Given the description of an element on the screen output the (x, y) to click on. 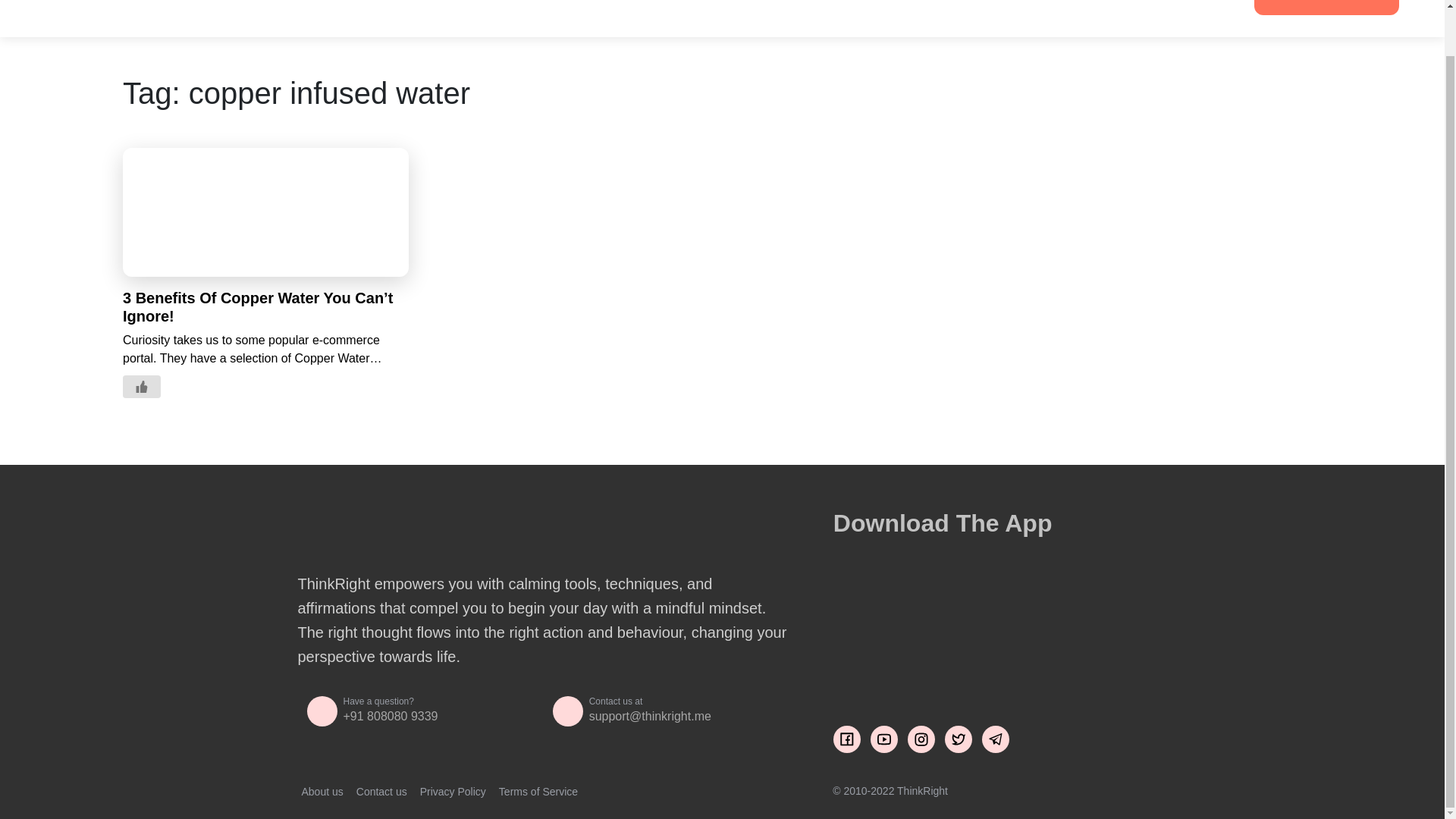
Download Now (1326, 7)
Articles (398, 9)
Logo (120, 6)
play-store-foo (959, 667)
Home (260, 9)
image 76 (946, 595)
Meditation (328, 9)
